Given the description of an element on the screen output the (x, y) to click on. 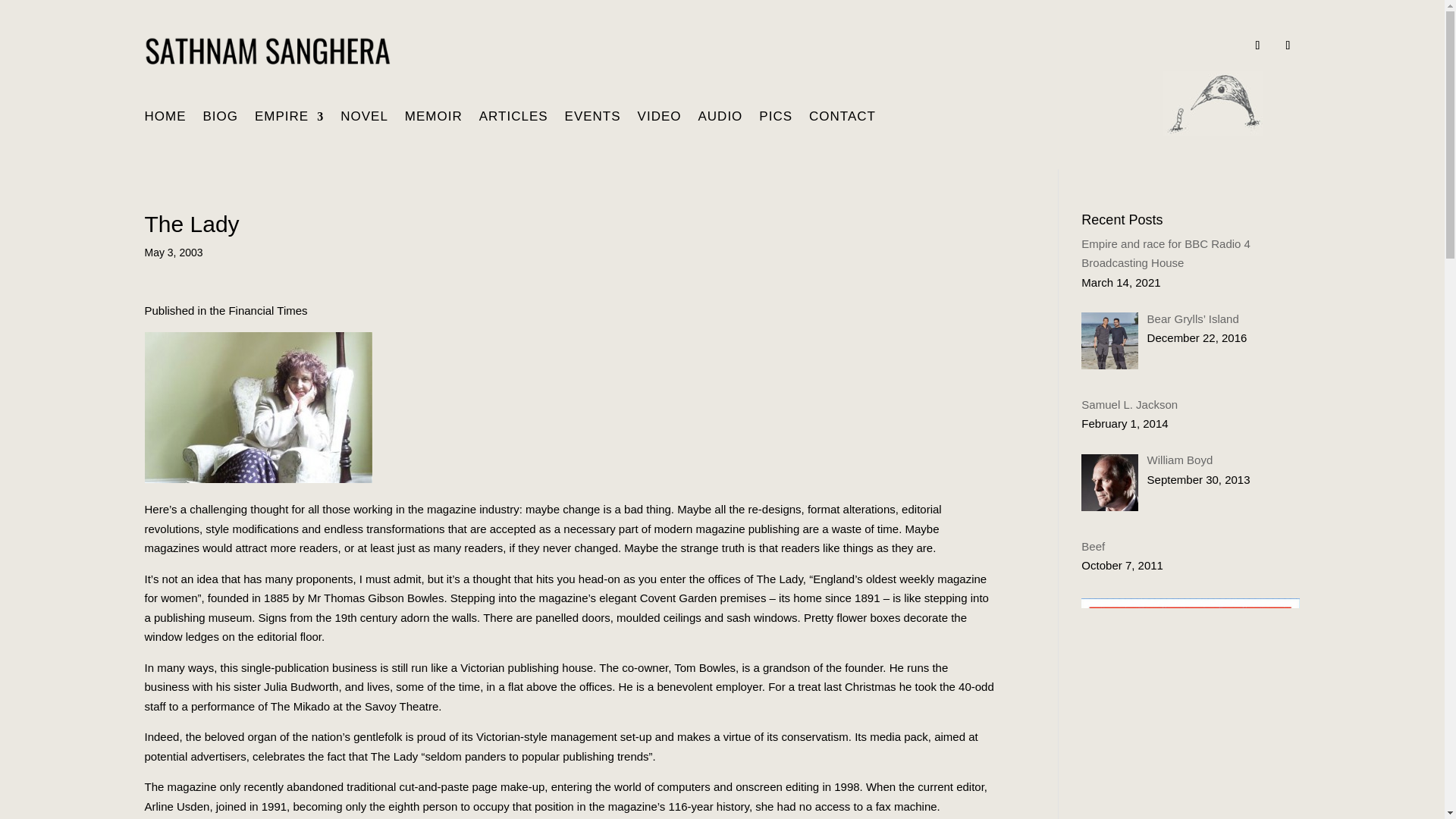
Follow on X (1256, 45)
bird (1213, 103)
CONTACT (842, 119)
Follow on Instagram (1287, 45)
Beef (1093, 545)
VIDEO (659, 119)
Empire and race for BBC Radio 4 Broadcasting House (1165, 253)
HOME (165, 119)
PICS (775, 119)
Samuel L. Jackson (1129, 404)
EVENTS (592, 119)
William Boyd (1179, 459)
BIOG (220, 119)
AUDIO (719, 119)
NOVEL (364, 119)
